Given the description of an element on the screen output the (x, y) to click on. 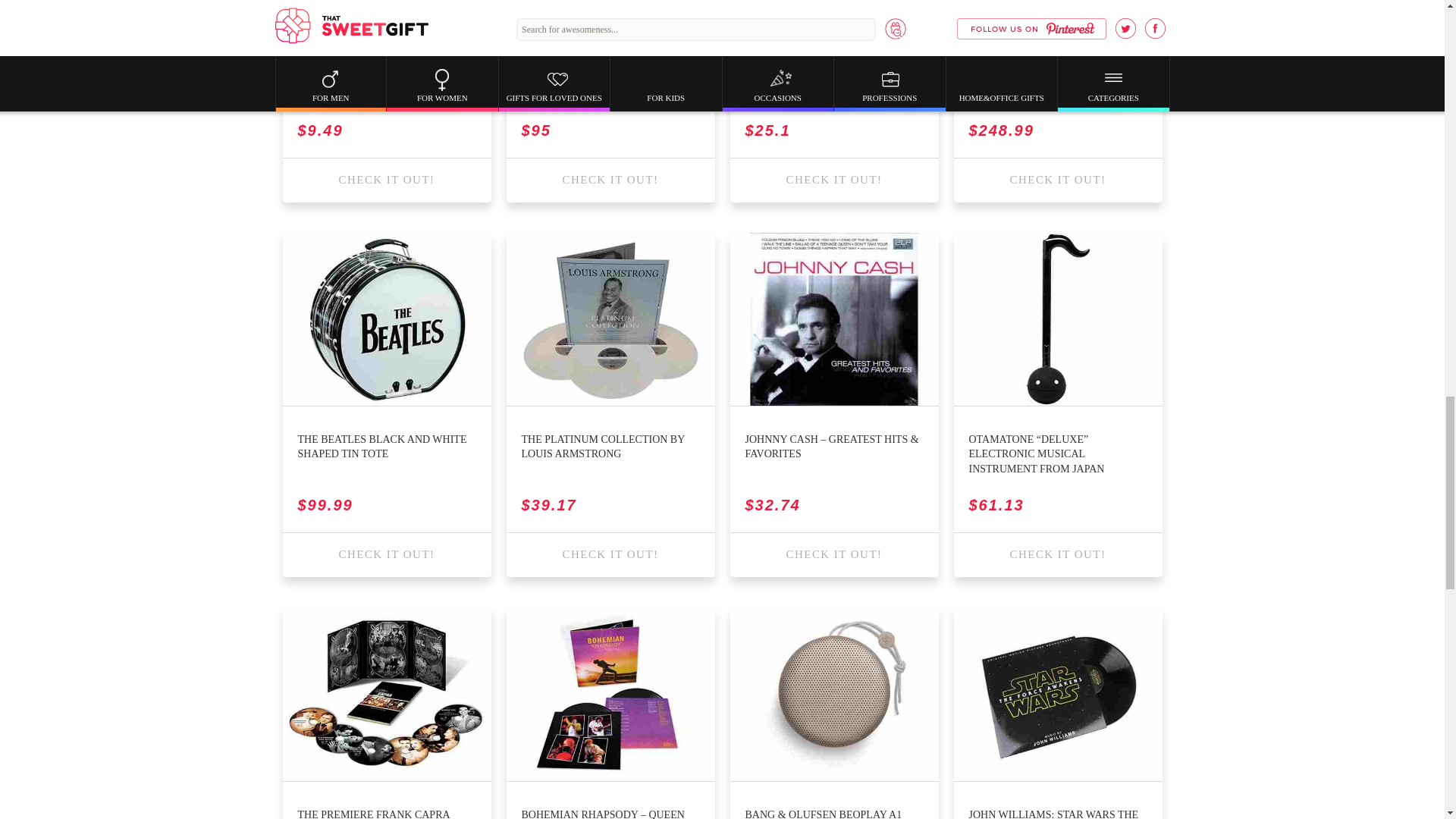
POP SONNETS: SHAKESPEAREAN SPINS ON YOUR FAVORITE SONGS (833, 86)
VANDOR 54162 THE BEATLES 4 PIECE GLASS SET (610, 86)
